Given the description of an element on the screen output the (x, y) to click on. 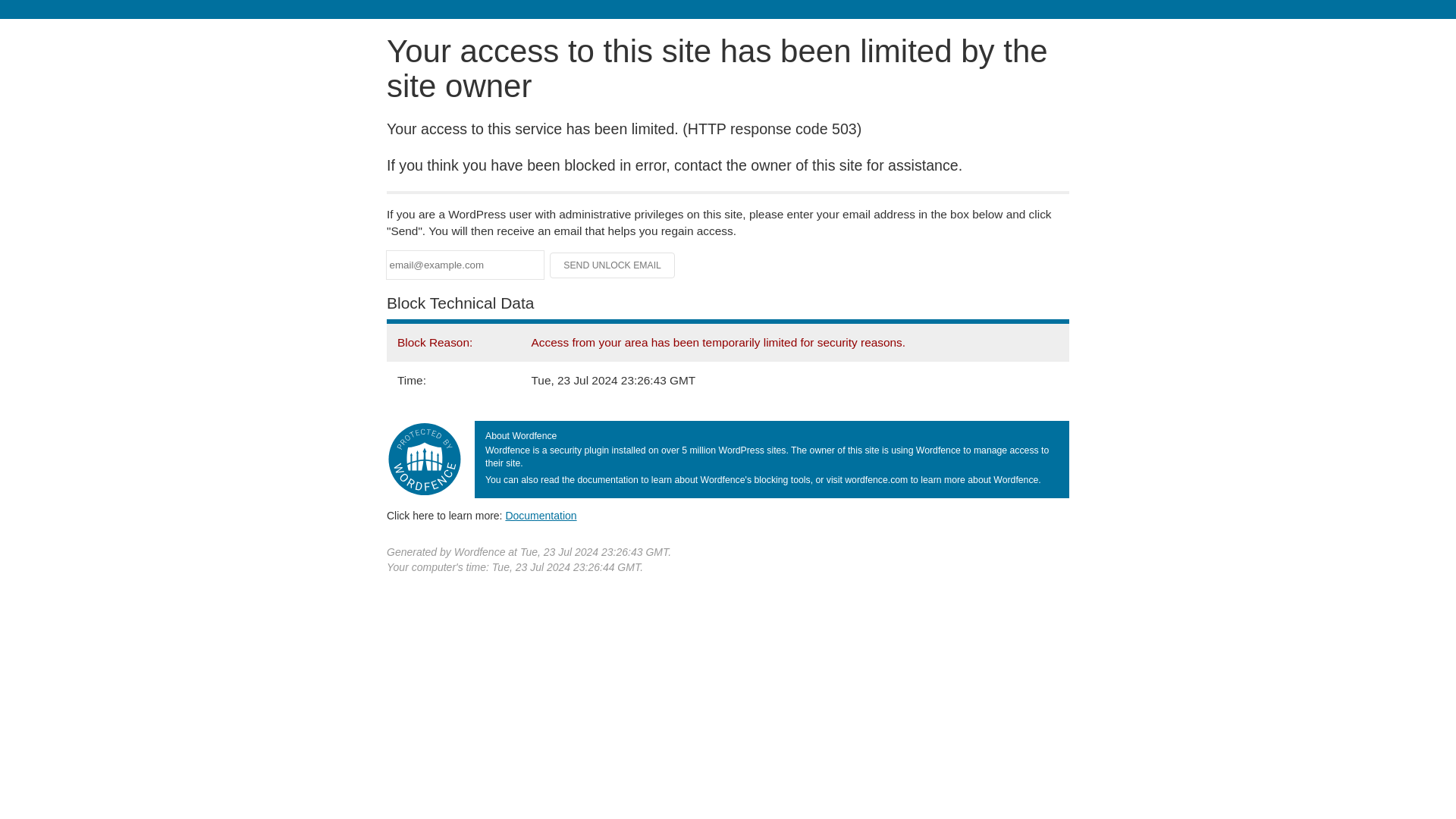
Documentation (540, 515)
Send Unlock Email (612, 265)
Send Unlock Email (612, 265)
